Given the description of an element on the screen output the (x, y) to click on. 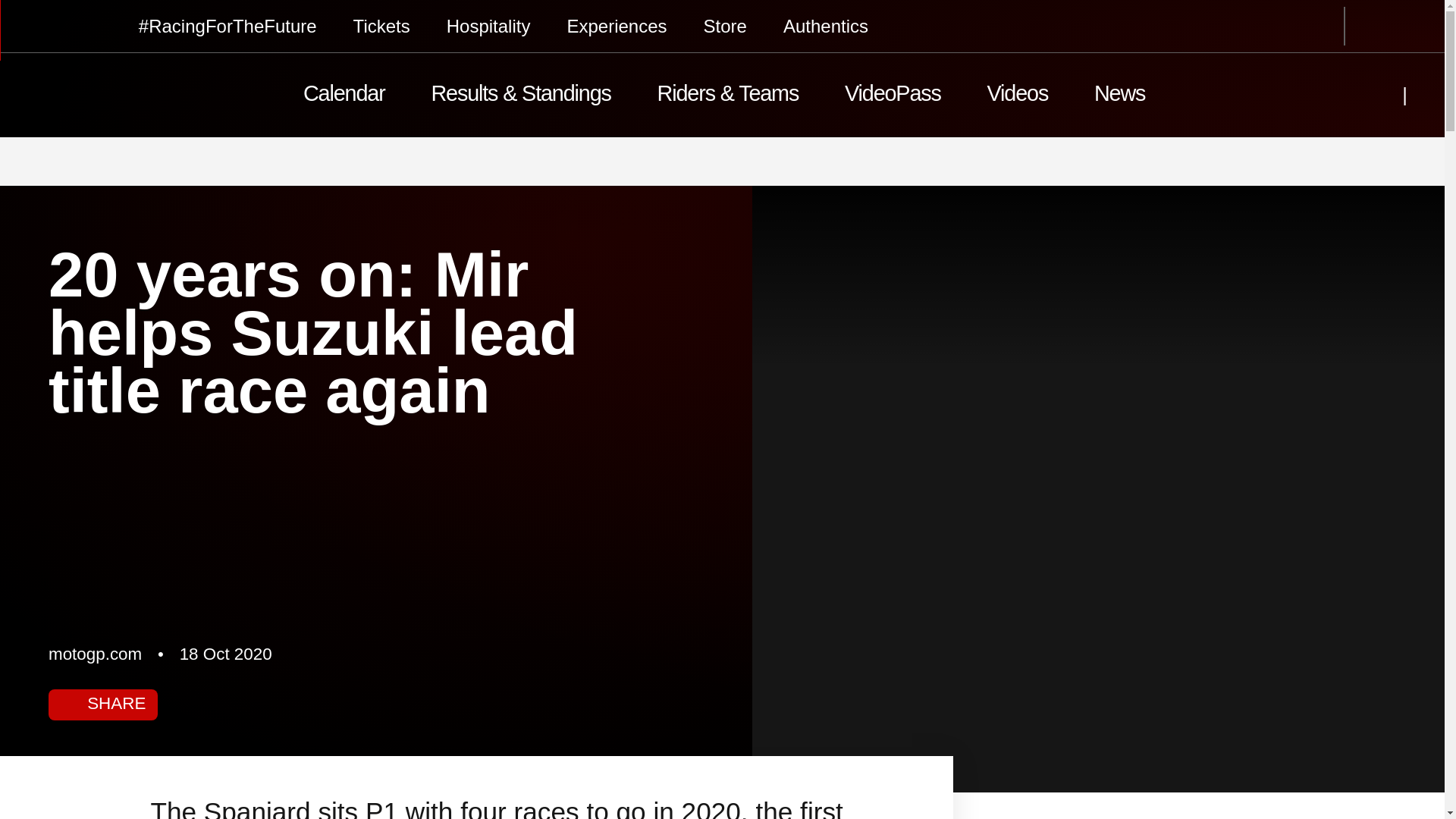
Authentics (825, 26)
Tickets (381, 26)
Calendar (343, 94)
Store (724, 26)
VideoPass (893, 94)
News (1119, 94)
Experiences (616, 26)
Videos (1016, 94)
Hospitality (488, 26)
